Given the description of an element on the screen output the (x, y) to click on. 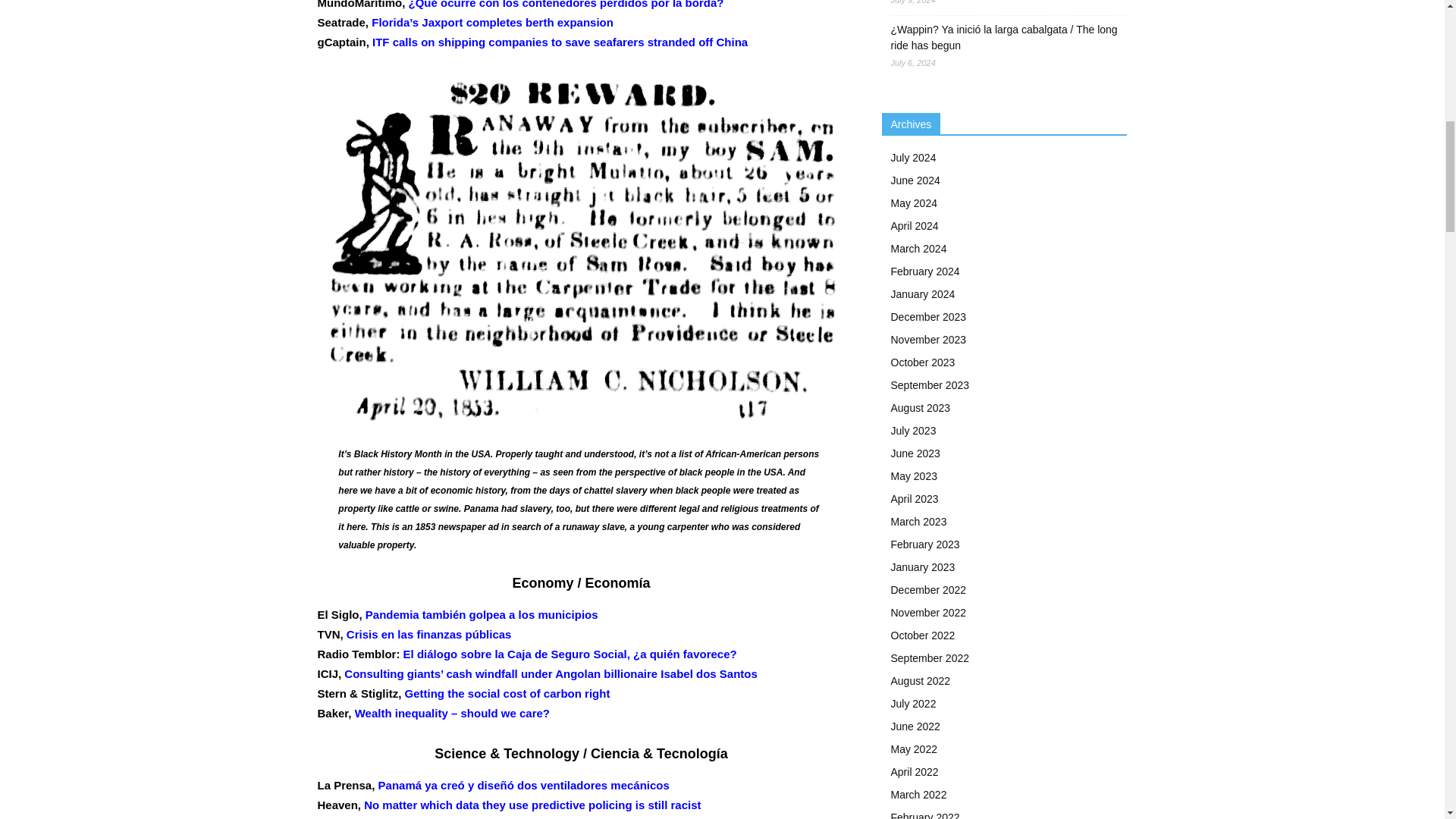
Getting the social cost of carbon right (507, 693)
